Given the description of an element on the screen output the (x, y) to click on. 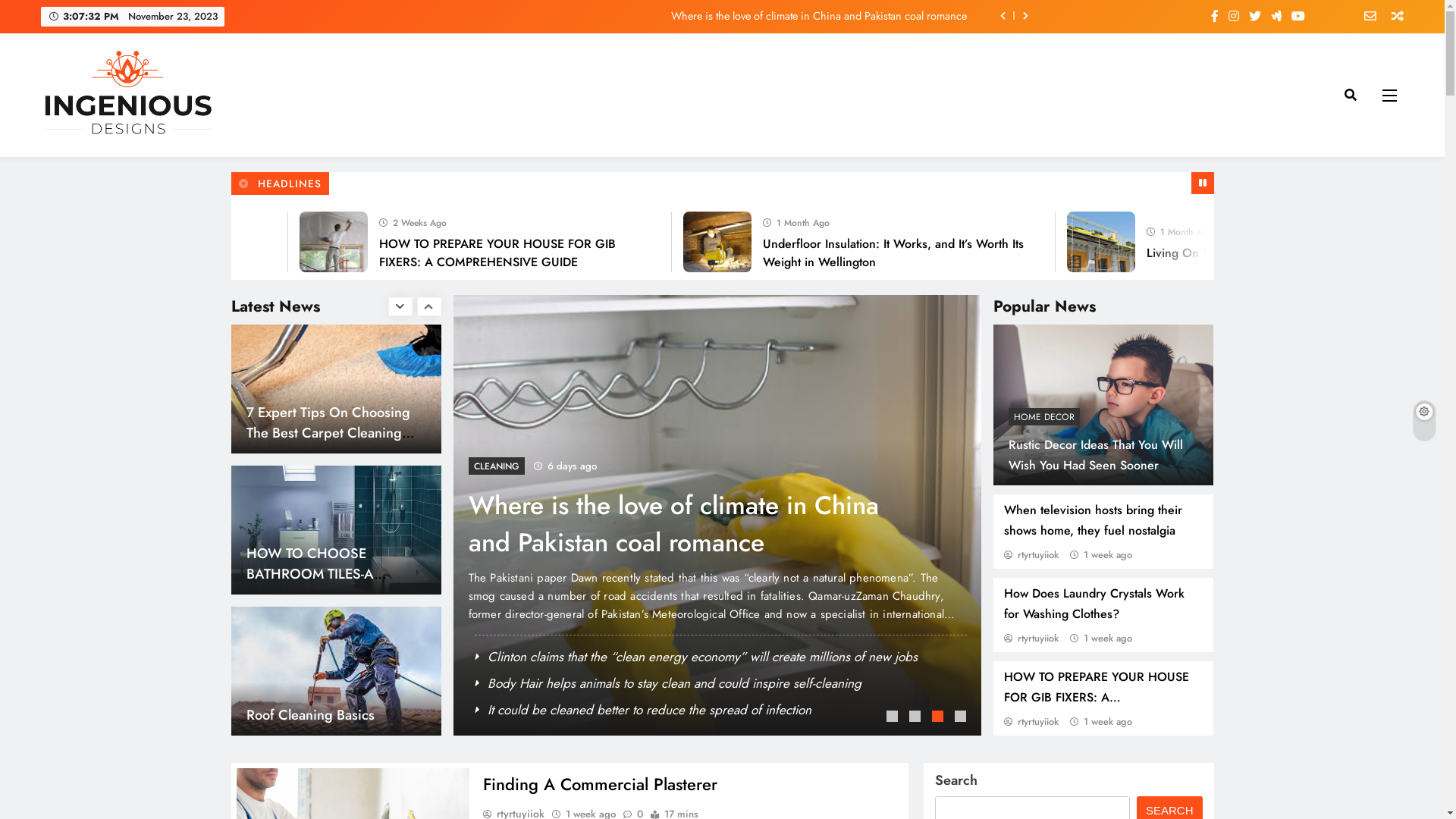
Random News Element type: hover (1391, 16)
6 days ago Element type: text (675, 465)
Ethics of online shopping for non-essential products Element type: text (332, 704)
4 Element type: text (961, 717)
HOME DECOR Element type: text (1043, 416)
rtyrtuyiiok Element type: text (1031, 554)
2 Element type: text (916, 717)
5 Reasons Why Aucklanders Should Hire Professional Painters Element type: hover (248, 241)
1 Week Ago Element type: text (778, 221)
5 Reasons Why Aucklanders Should Hire Professional Painters Element type: text (851, 252)
Ingenious Designs Element type: text (138, 160)
Finding A Commercial Plasterer Element type: text (171, 252)
CLEANING Element type: text (619, 465)
1 Element type: text (893, 717)
rtyrtuyiiok Element type: text (1031, 721)
Newsletter Element type: hover (1364, 16)
1 Week Ago Element type: text (396, 221)
It could be cleaned better to reduce the spread of infection Element type: text (776, 523)
5 Reasons Why Aucklanders Should Hire Professional Painters Element type: hover (247, 241)
1 week ago Element type: text (1107, 721)
rtyrtuyiiok Element type: text (1031, 637)
How Does Laundry Crystals Work for Washing Clothes? Element type: text (1094, 603)
3 Element type: text (939, 717)
1 week ago Element type: text (1107, 637)
2 Weeks Ago Element type: text (1161, 221)
Rustic Decor Ideas That You Will Wish You Had Seen Sooner Element type: text (1095, 454)
Finding A Commercial Plasterer Element type: text (600, 783)
1 week ago Element type: text (1107, 554)
Finding A Commercial Plasterer Element type: text (314, 562)
